Given the description of an element on the screen output the (x, y) to click on. 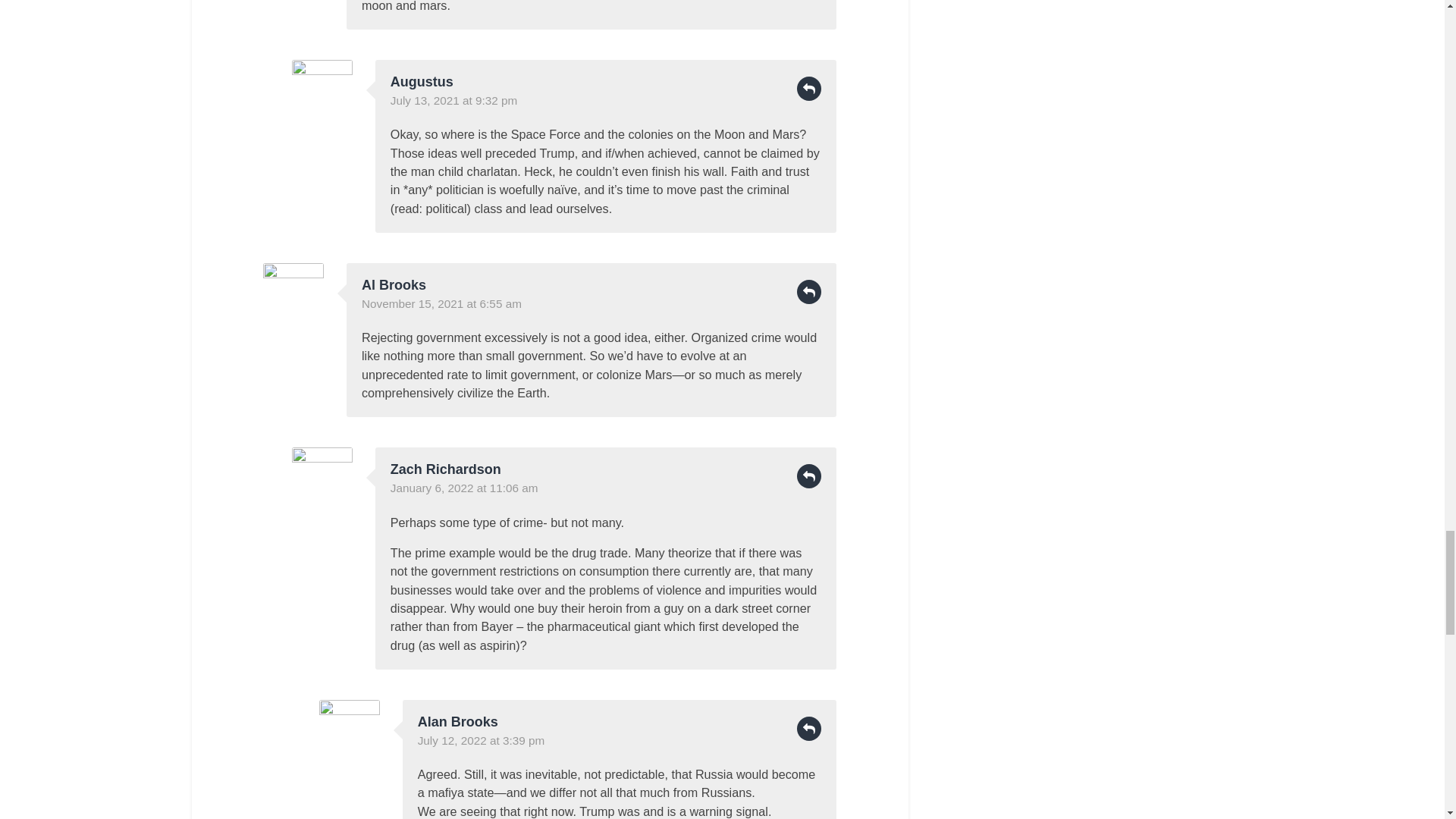
July 13, 2021 at 9:32 pm (454, 100)
Reply (808, 291)
November 15, 2021 at 6:55 am (441, 303)
Reply (808, 88)
